Given the description of an element on the screen output the (x, y) to click on. 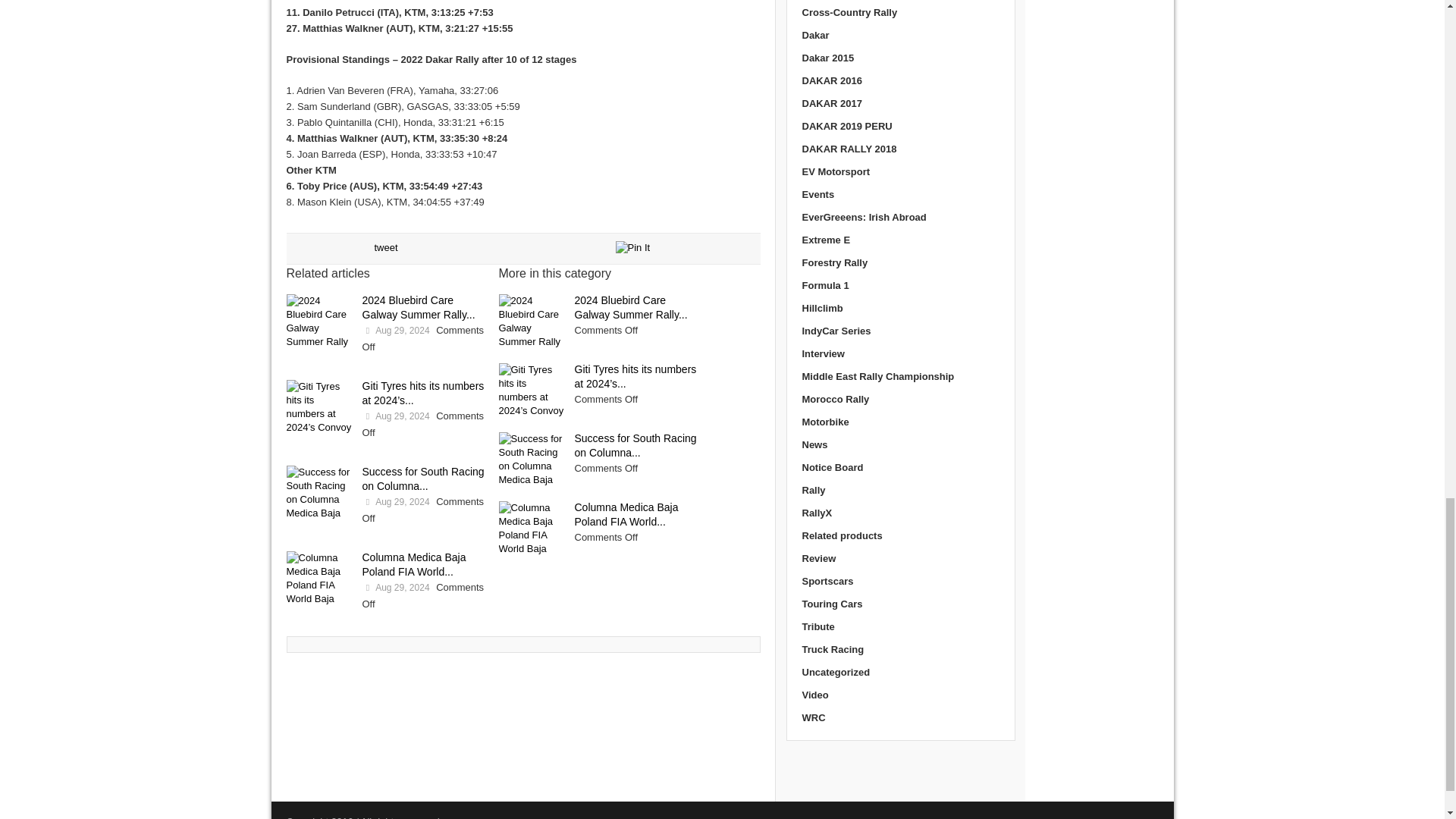
2024 Bluebird Care Galway Summer Rally... (419, 307)
tweet (385, 247)
Pin It (632, 247)
